Given the description of an element on the screen output the (x, y) to click on. 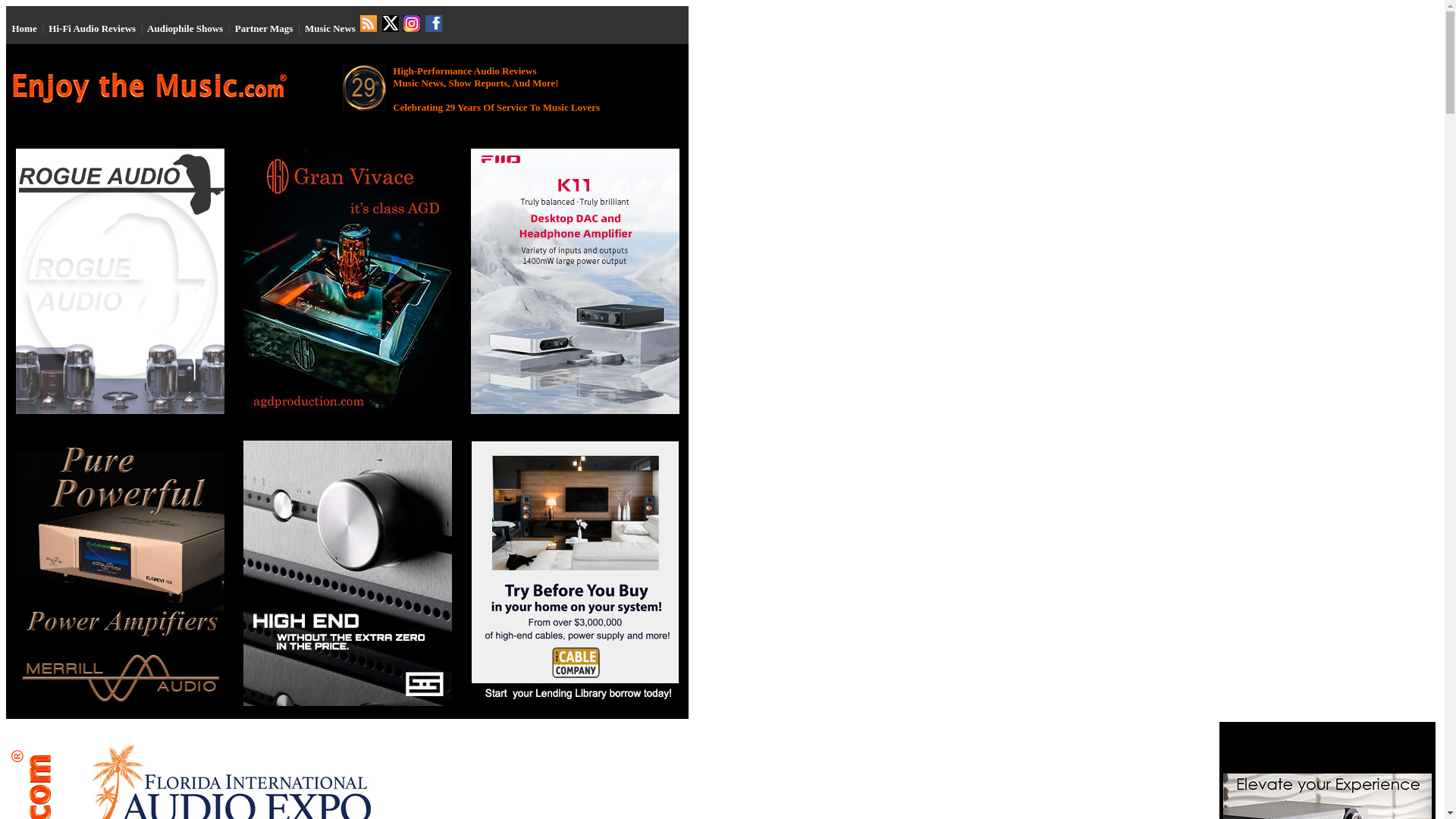
Hi-Fi Audio Reviews (91, 28)
Music News (329, 28)
Home (24, 28)
Partner Mags (264, 28)
Audiophile Shows (184, 28)
